Given the description of an element on the screen output the (x, y) to click on. 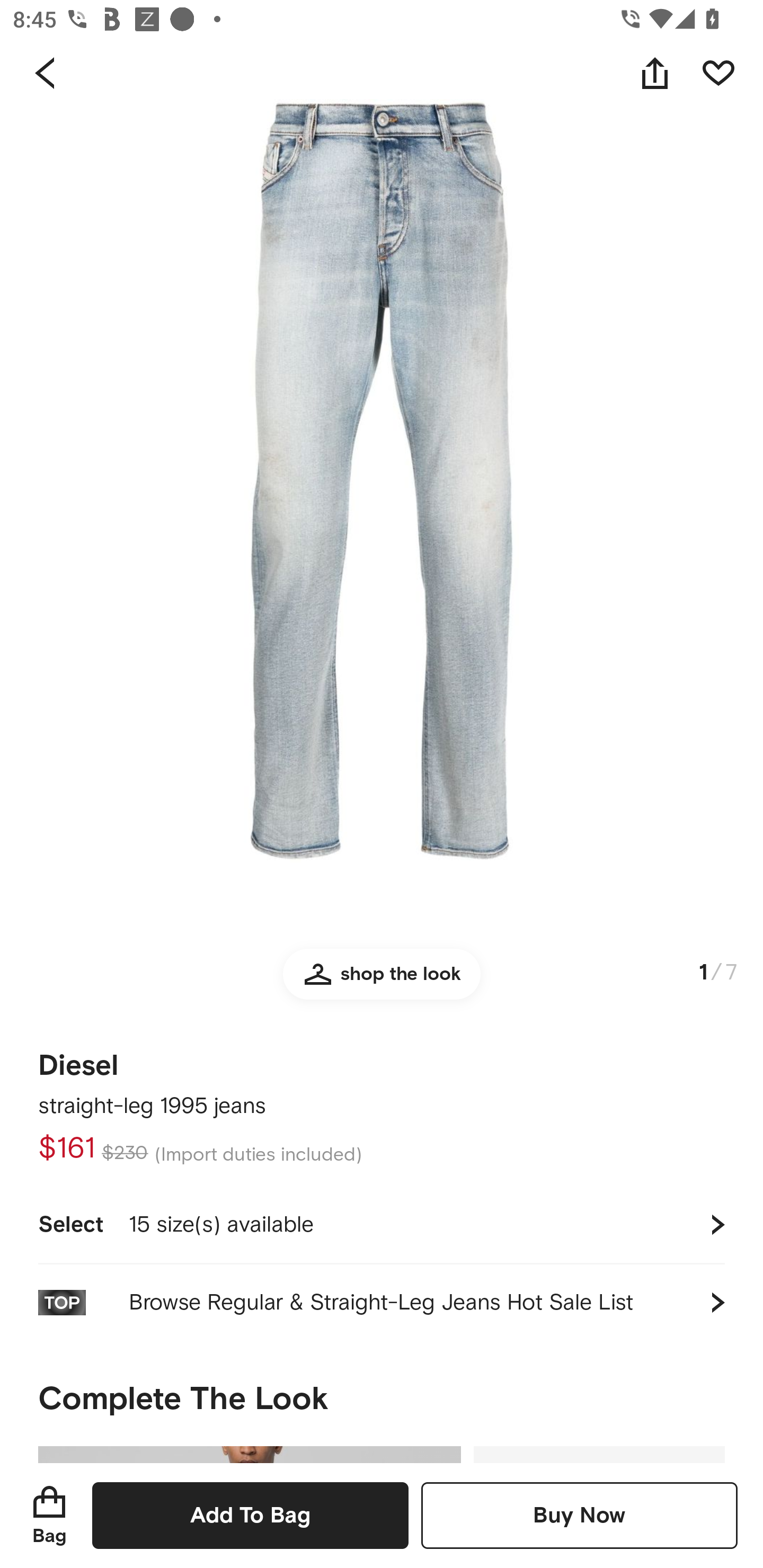
shop the look (381, 982)
Diesel (78, 1059)
Select 15 size(s) available (381, 1224)
Browse Regular & Straight-Leg Jeans Hot Sale List (381, 1301)
Bag (49, 1515)
Add To Bag (250, 1515)
Buy Now (579, 1515)
